Given the description of an element on the screen output the (x, y) to click on. 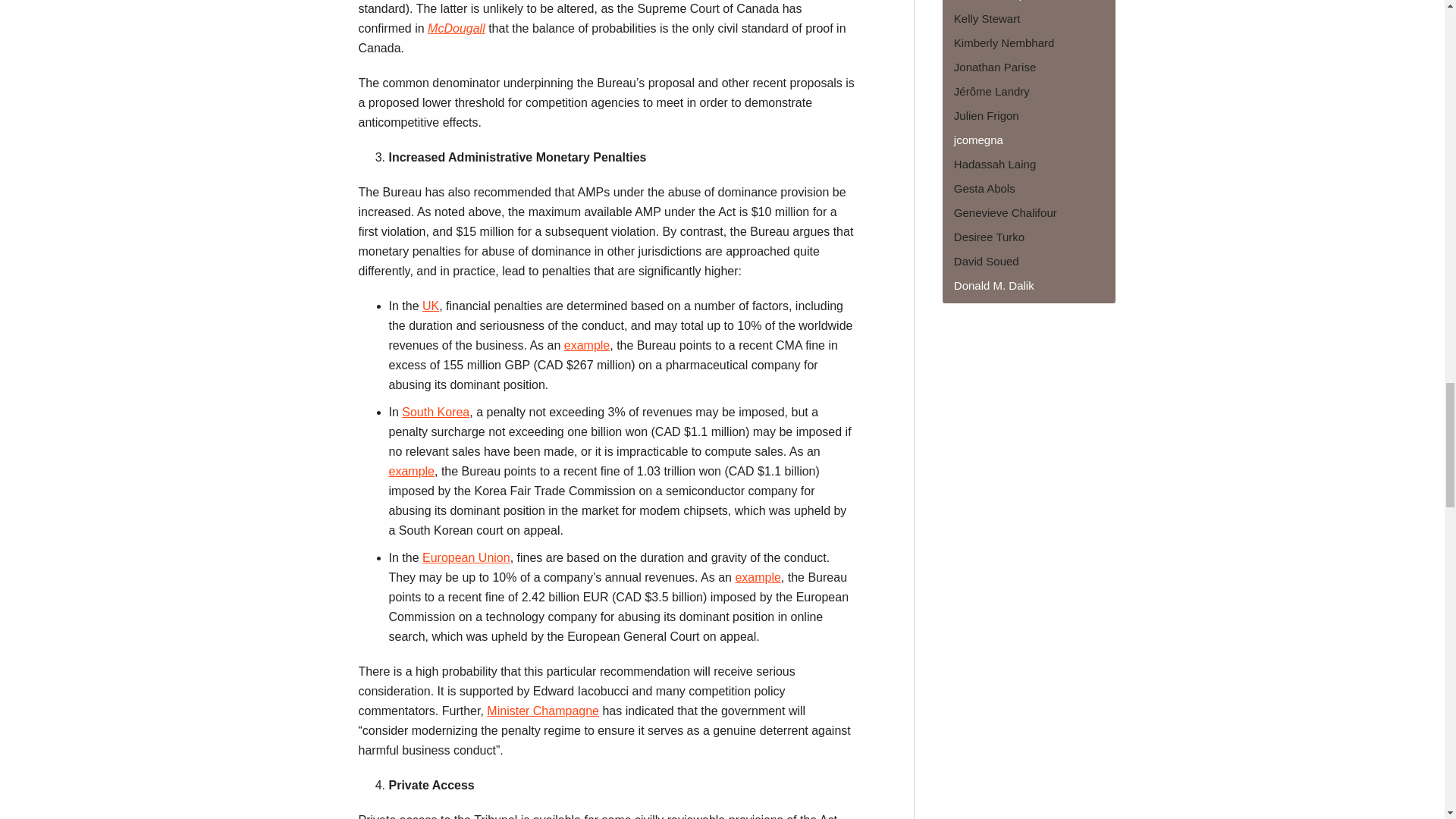
Minister Champagne (542, 710)
European Union (466, 557)
example (757, 576)
McDougall (456, 28)
UK (430, 305)
example (587, 345)
example (410, 471)
South Korea (434, 411)
